Given the description of an element on the screen output the (x, y) to click on. 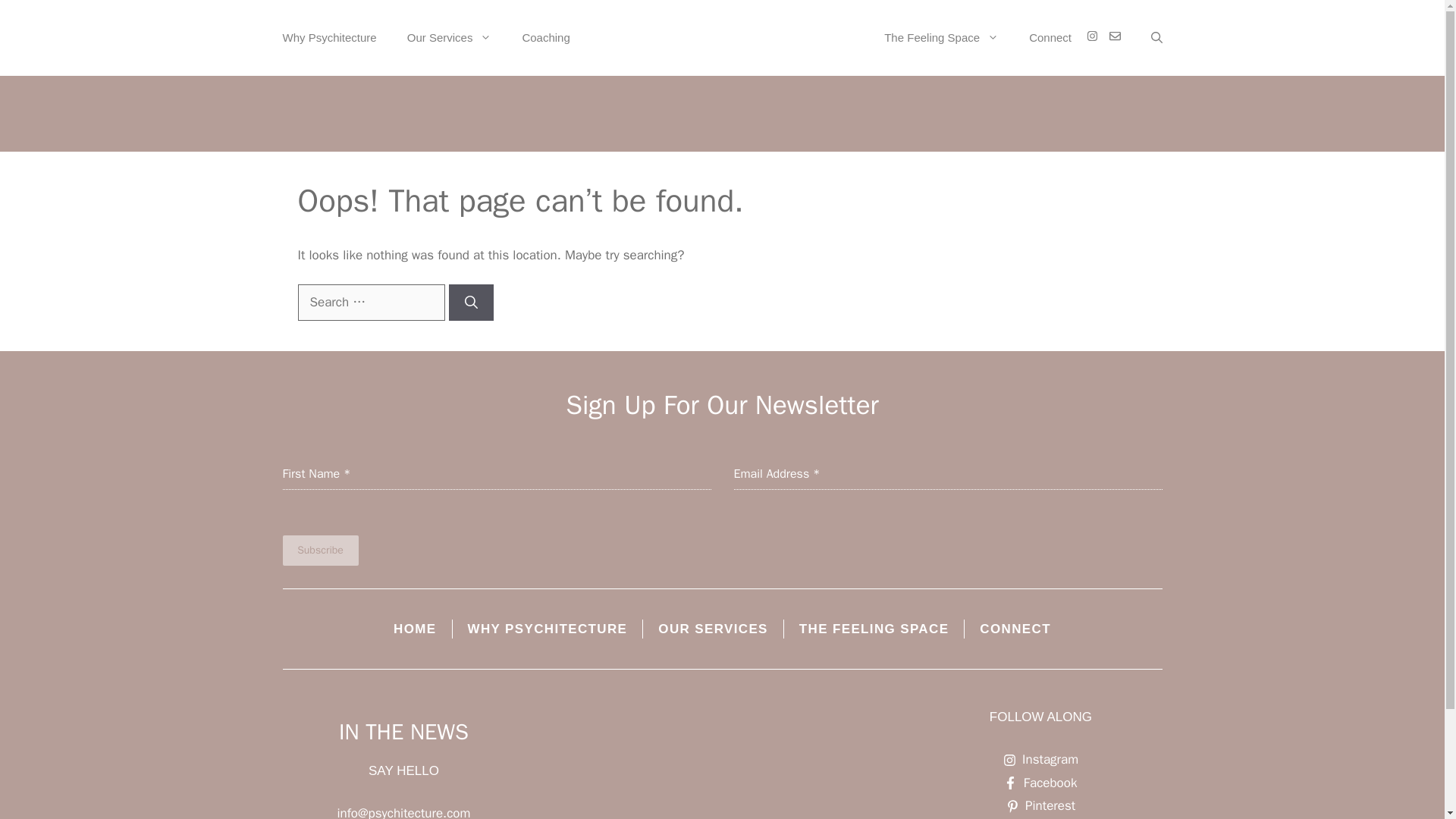
Why Psychitecture (328, 37)
WHY PSYCHITECTURE (547, 629)
Connect (1049, 37)
The Feeling Space (941, 37)
OUR SERVICES (713, 629)
HOME (414, 629)
Search for: (370, 302)
Subscribe (320, 550)
Coaching (545, 37)
Our Services (448, 37)
